Given the description of an element on the screen output the (x, y) to click on. 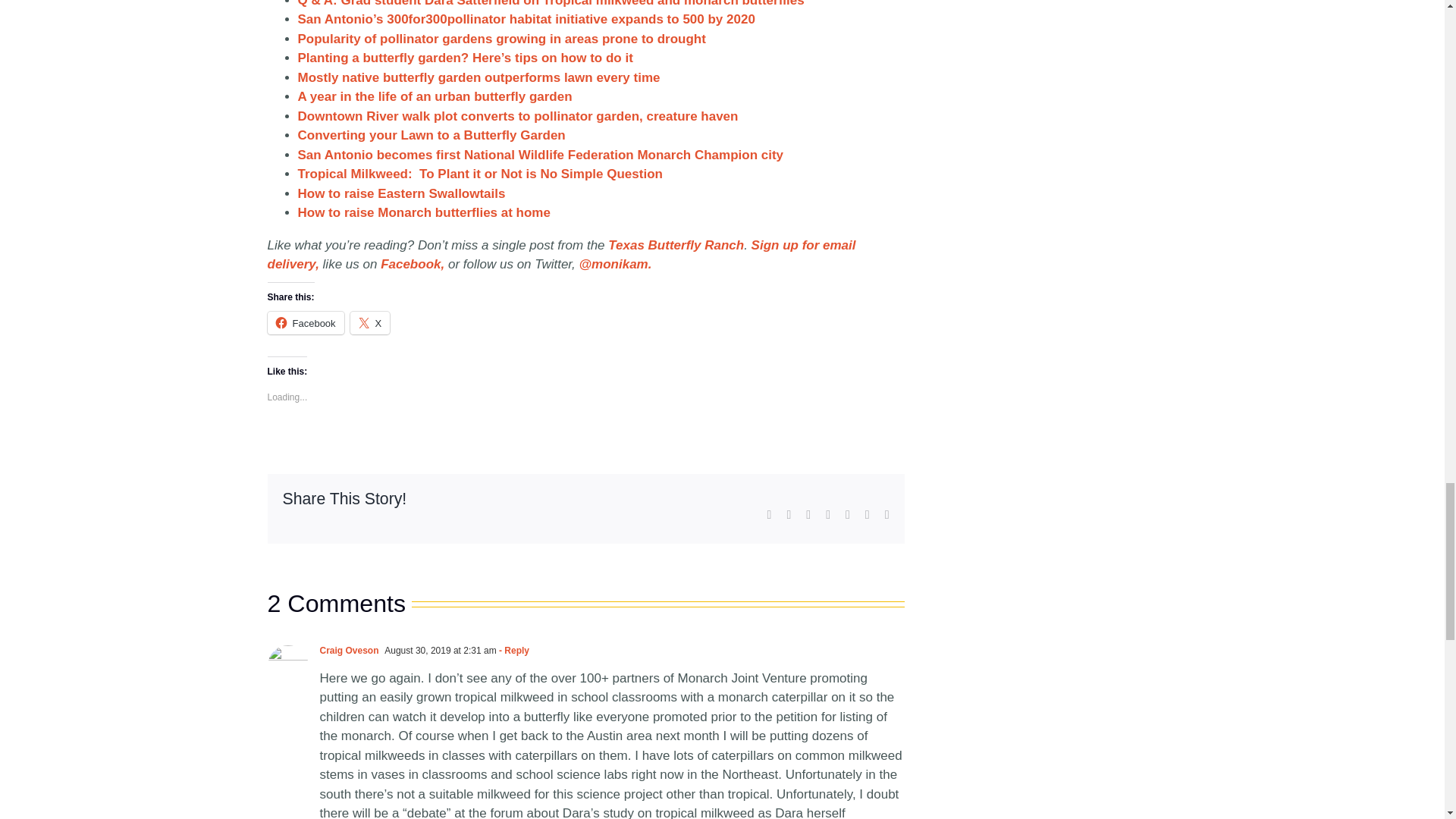
Converting lawn to a butterfly garden (430, 134)
Monika Maeckle on Twitter (615, 264)
Texas Butterfly Ranch on Facebook (412, 264)
Texas Butterfly Ranch (676, 245)
Click to share on X (370, 323)
Click to share on Facebook (304, 323)
Tropical Milkweed Pros and Cons (479, 173)
